Given the description of an element on the screen output the (x, y) to click on. 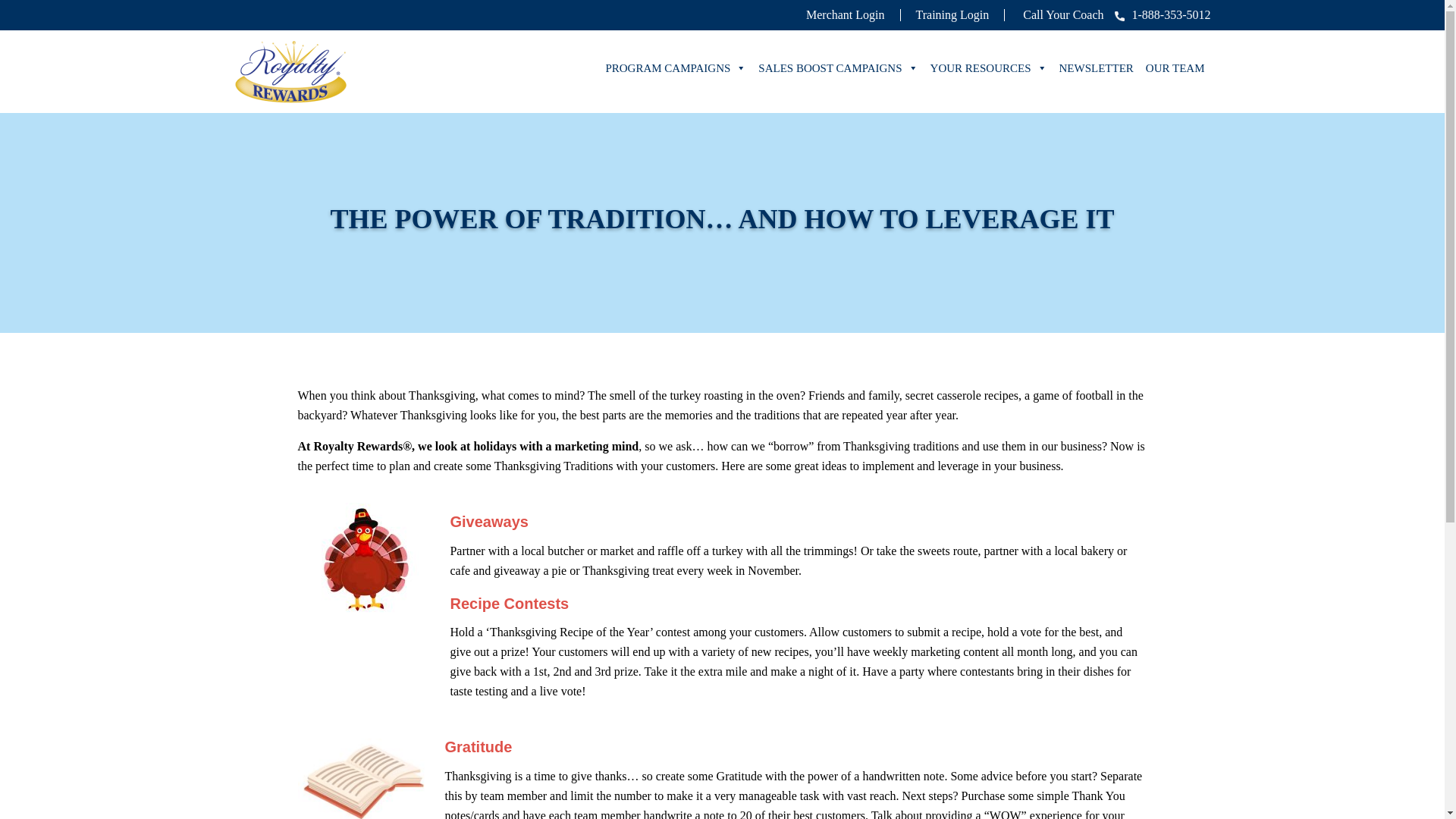
Merchant Login (845, 14)
Thanksgiving turkey wear hat icon, cartoon style (365, 559)
SALES BOOST CAMPAIGNS (837, 68)
PROGRAM CAMPAIGNS (675, 68)
YOUR RESOURCES (988, 68)
Depositphotos book only (363, 773)
Training Login (952, 14)
